Given the description of an element on the screen output the (x, y) to click on. 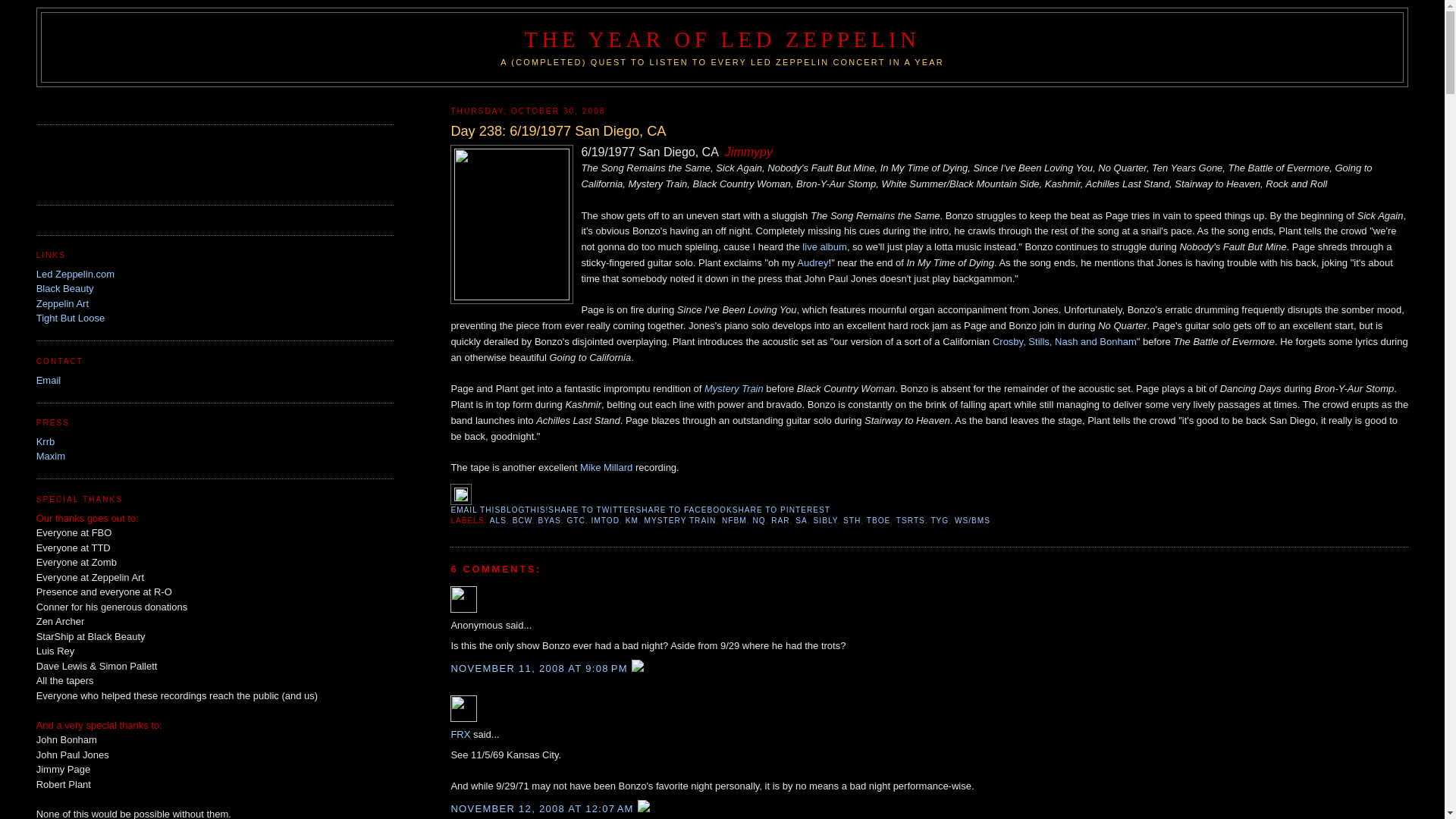
Mike Millard (605, 467)
BLOGTHIS! (524, 510)
Email This (474, 510)
KM (632, 520)
NFBM (734, 520)
IMTOD (605, 520)
Crosby, Stills, Nash and Bonham (1064, 341)
THE YEAR OF LED ZEPPELIN (722, 39)
SHARE TO TWITTER (591, 510)
SHARE TO PINTEREST (780, 510)
SIBLY (825, 520)
SHARE TO FACEBOOK (684, 510)
BlogThis! (524, 510)
FRX (463, 708)
